Given the description of an element on the screen output the (x, y) to click on. 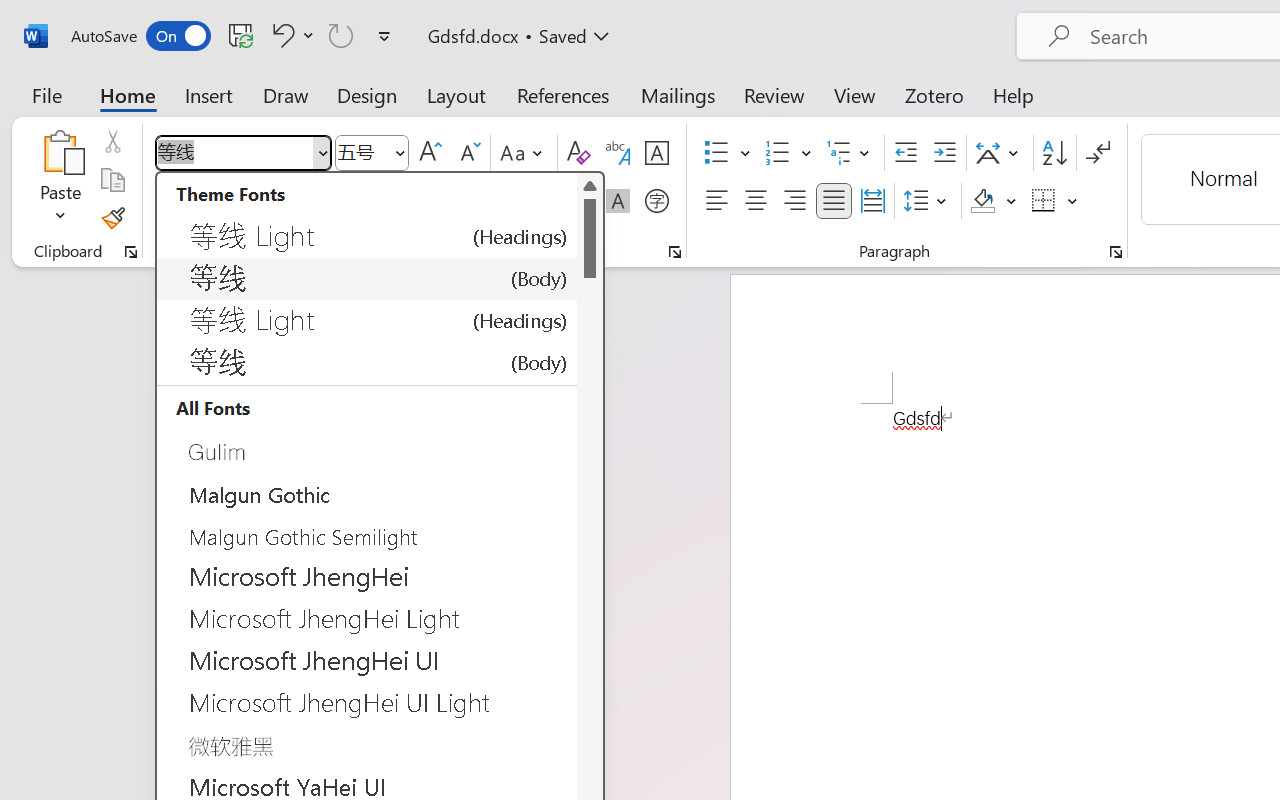
Copy (112, 179)
Microsoft JhengHei UI (367, 660)
Shrink Font (468, 153)
Line up (589, 185)
Microsoft JhengHei UI Light (367, 702)
Increase Indent (944, 153)
Change Case (524, 153)
